Given the description of an element on the screen output the (x, y) to click on. 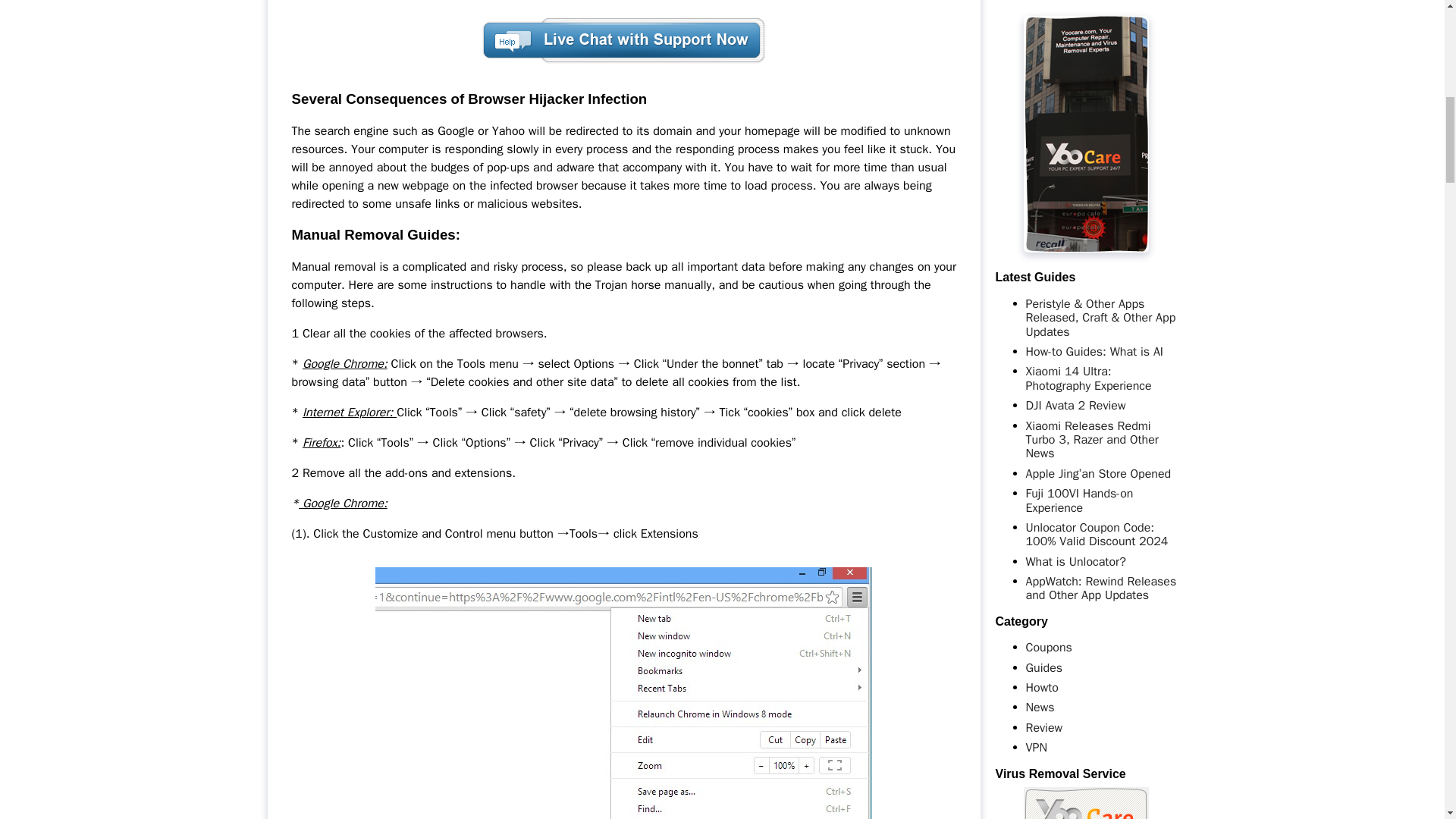
What is Unlocator? (1075, 561)
AppWatch: Rewind Releases and Other App Updates (1100, 588)
DJI Avata 2 Review (1075, 405)
Guides (1043, 667)
Review (1043, 727)
Xiaomi 14 Ultra: Photography Experience (1088, 378)
How-to Guides: What is AI (1094, 351)
News (1039, 707)
Coupons (1048, 647)
VPN (1035, 747)
